Given the description of an element on the screen output the (x, y) to click on. 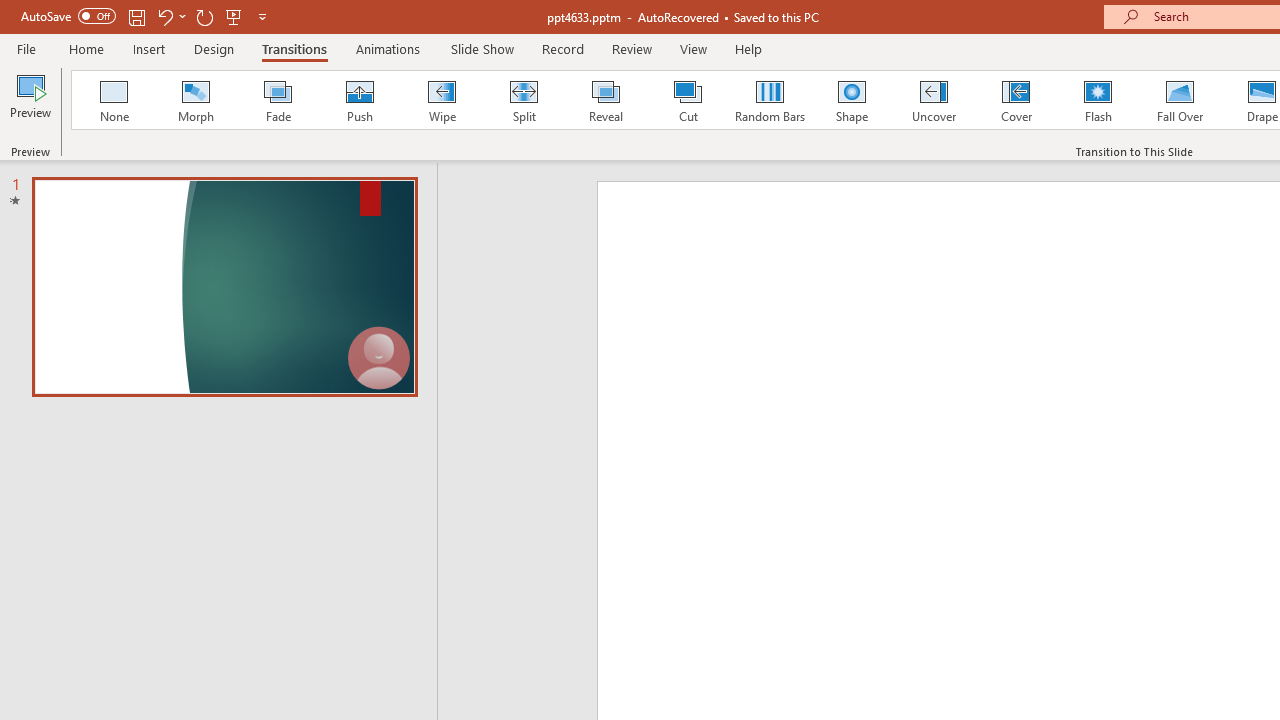
Cover (1016, 100)
Fade (277, 100)
